Given the description of an element on the screen output the (x, y) to click on. 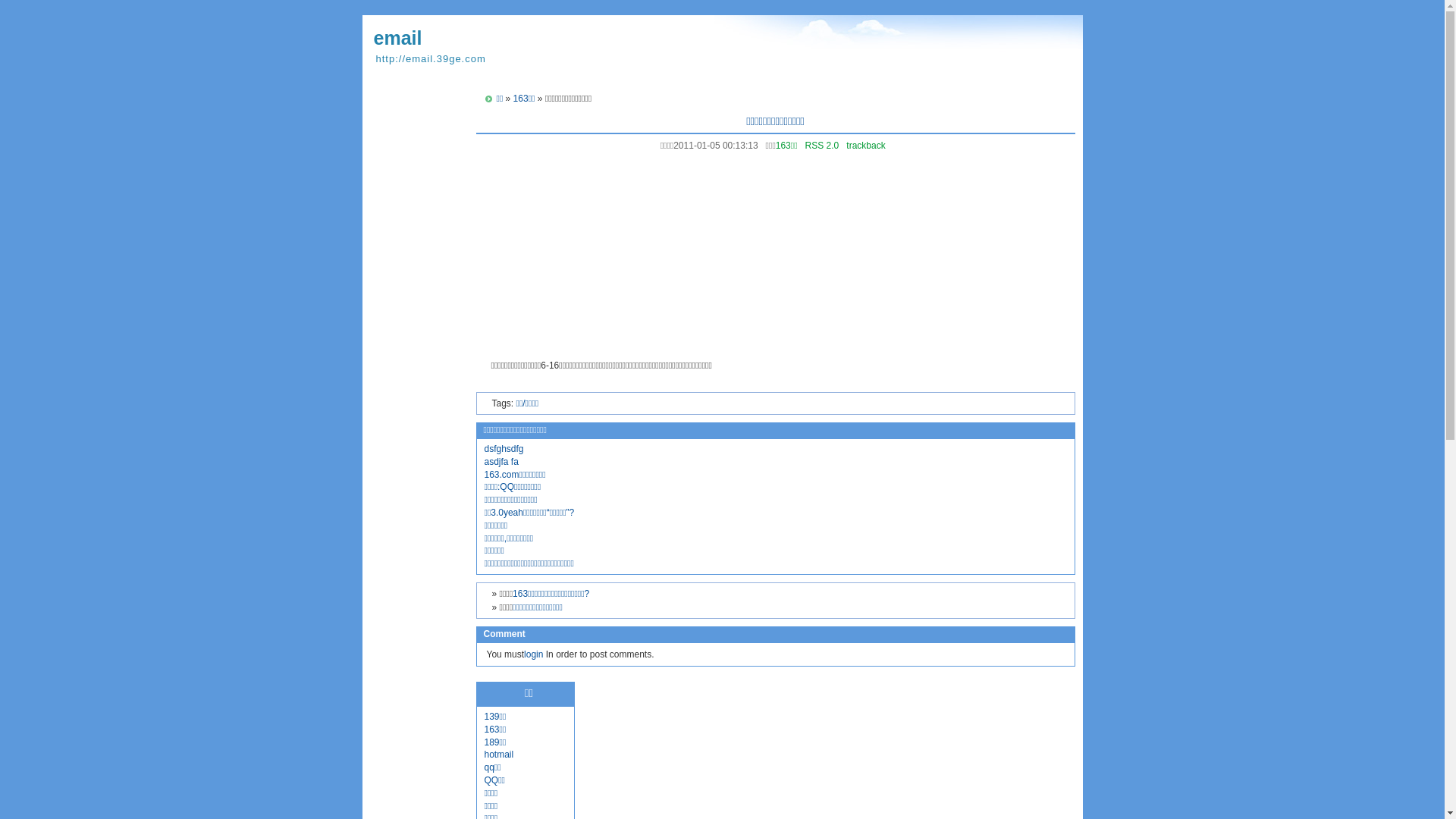
email Element type: text (397, 37)
RSS 2.0 Element type: text (822, 145)
dsfghsdfg Element type: text (503, 448)
login Element type: text (533, 654)
Advertisement Element type: hover (775, 251)
asdjfa fa Element type: text (500, 461)
hotmail Element type: text (498, 754)
trackback Element type: text (865, 145)
